Given the description of an element on the screen output the (x, y) to click on. 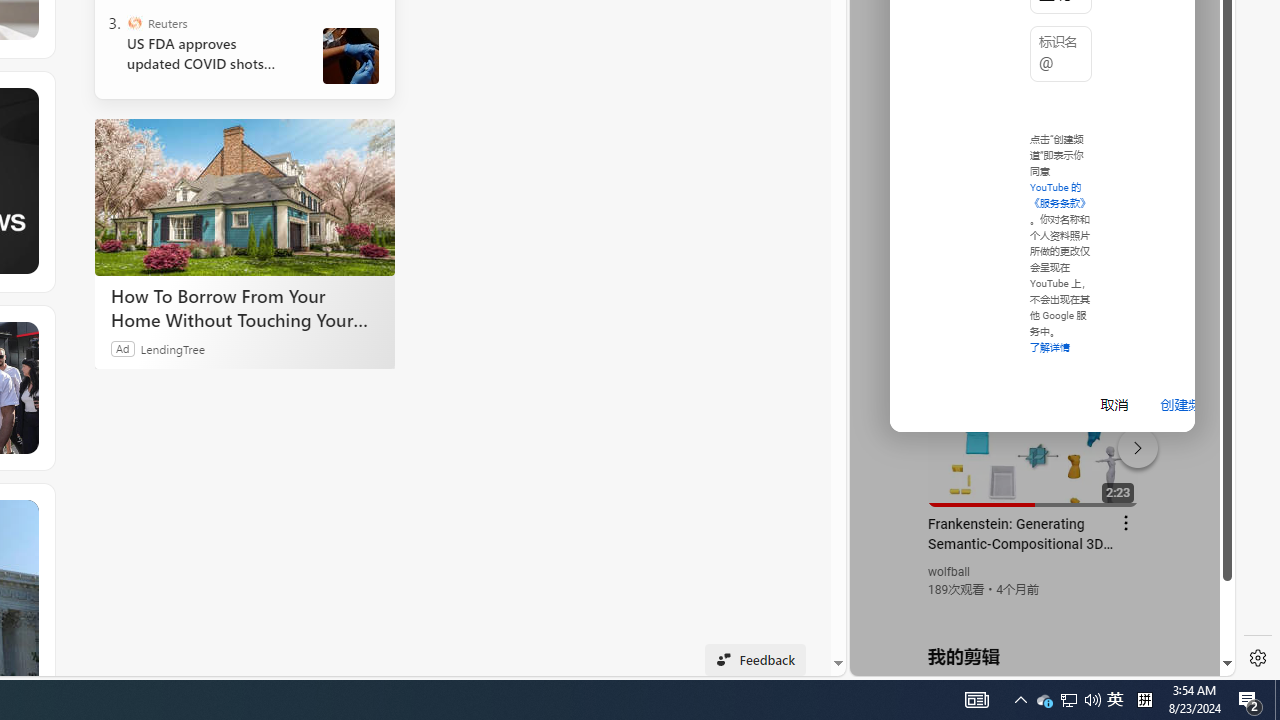
YouTube - YouTube (1034, 266)
Feedback (755, 659)
See more (24, 514)
How To Borrow From Your Home Without Touching Your Mortgage (244, 307)
you (1034, 609)
Click to scroll right (1196, 83)
Actions for this site (1131, 443)
#you (1034, 439)
LendingTree (172, 348)
